Given the description of an element on the screen output the (x, y) to click on. 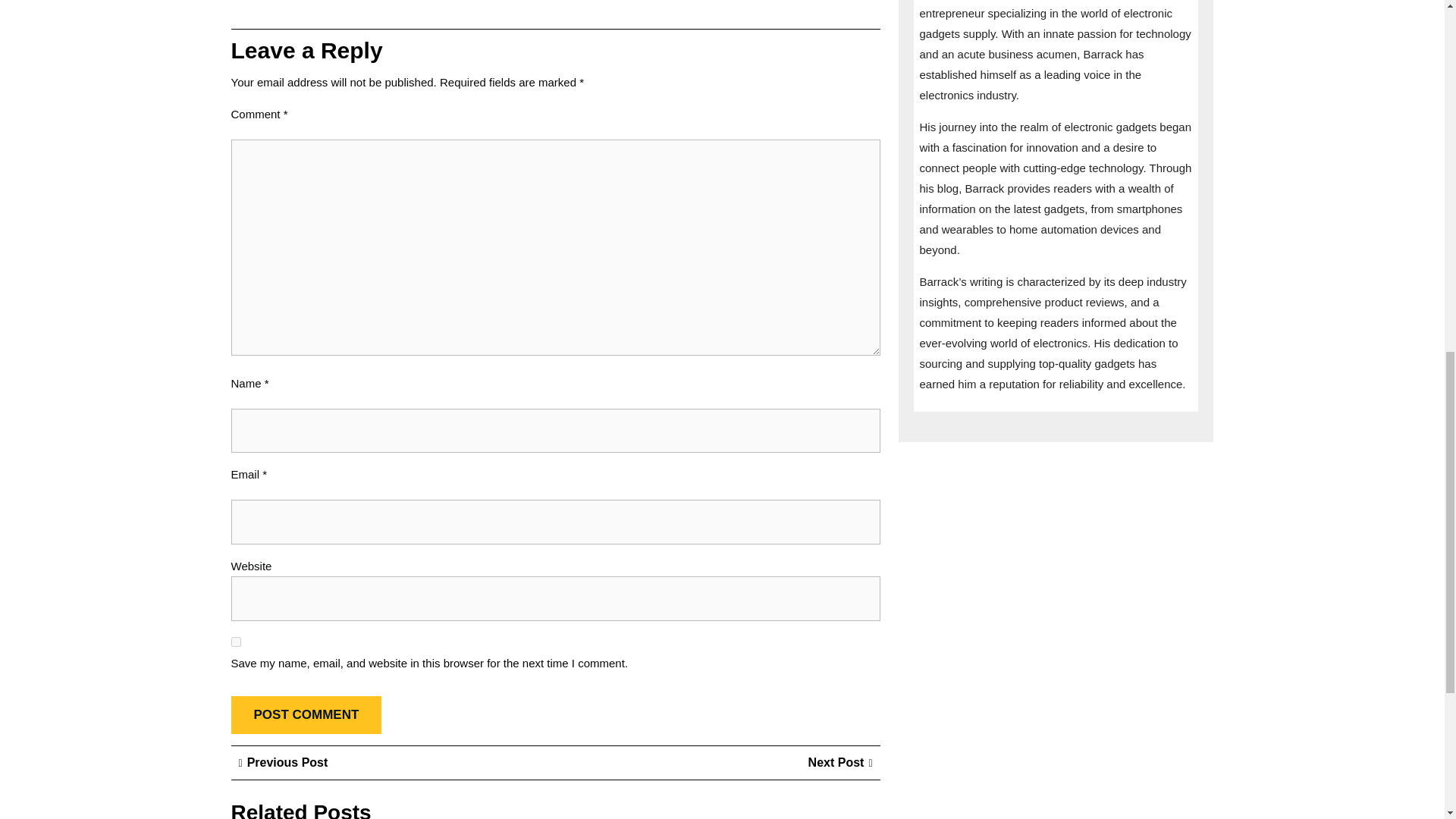
Post Comment (840, 762)
Post Comment (282, 762)
yes (305, 715)
